Given the description of an element on the screen output the (x, y) to click on. 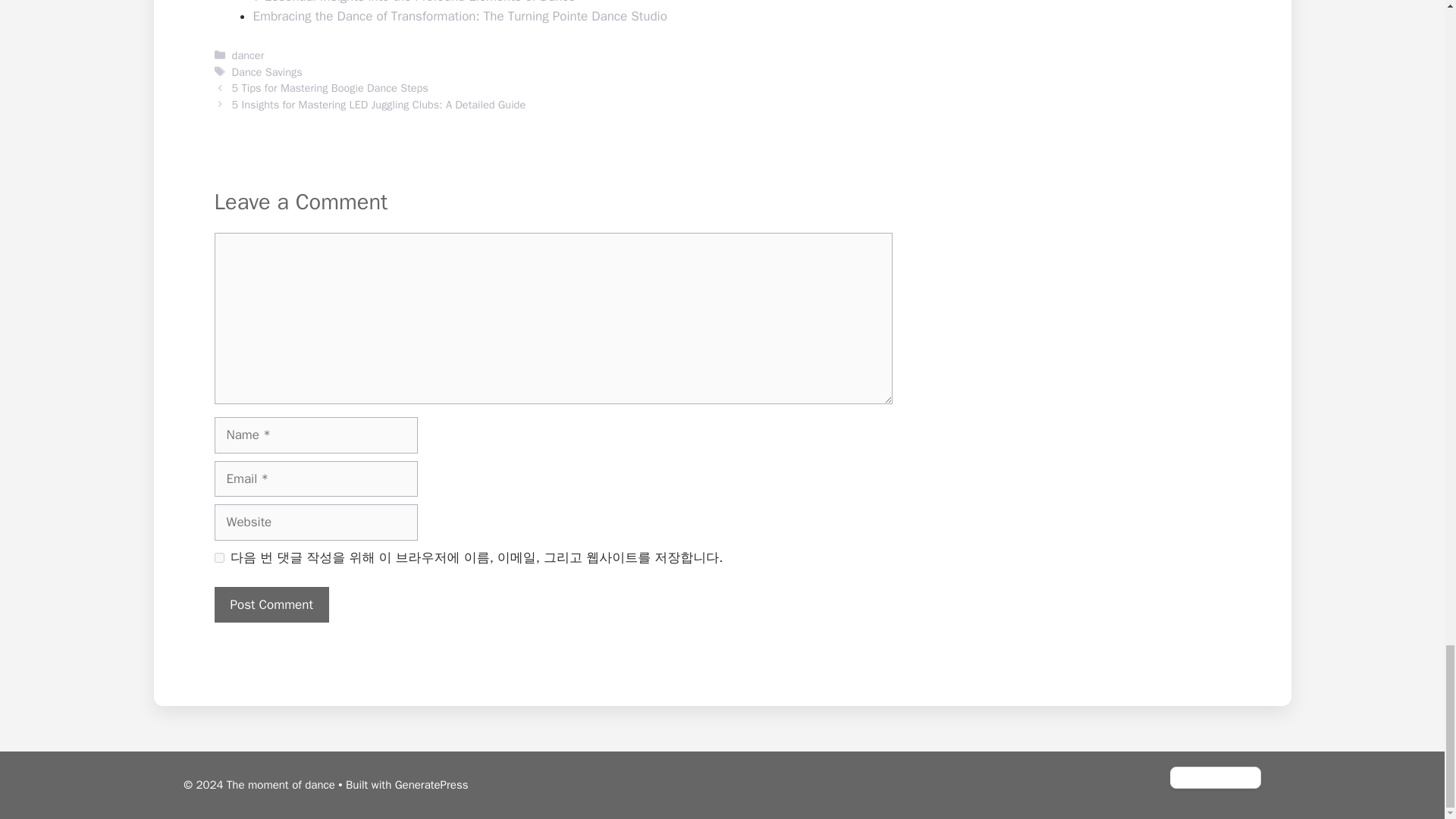
5 Tips for Mastering Boogie Dance Steps (329, 88)
Dance Savings (266, 71)
Post Comment (271, 605)
dancer (247, 55)
Post Comment (271, 605)
7 Essential Insights into the Profound Elements of Dance (414, 2)
yes (219, 557)
